Given the description of an element on the screen output the (x, y) to click on. 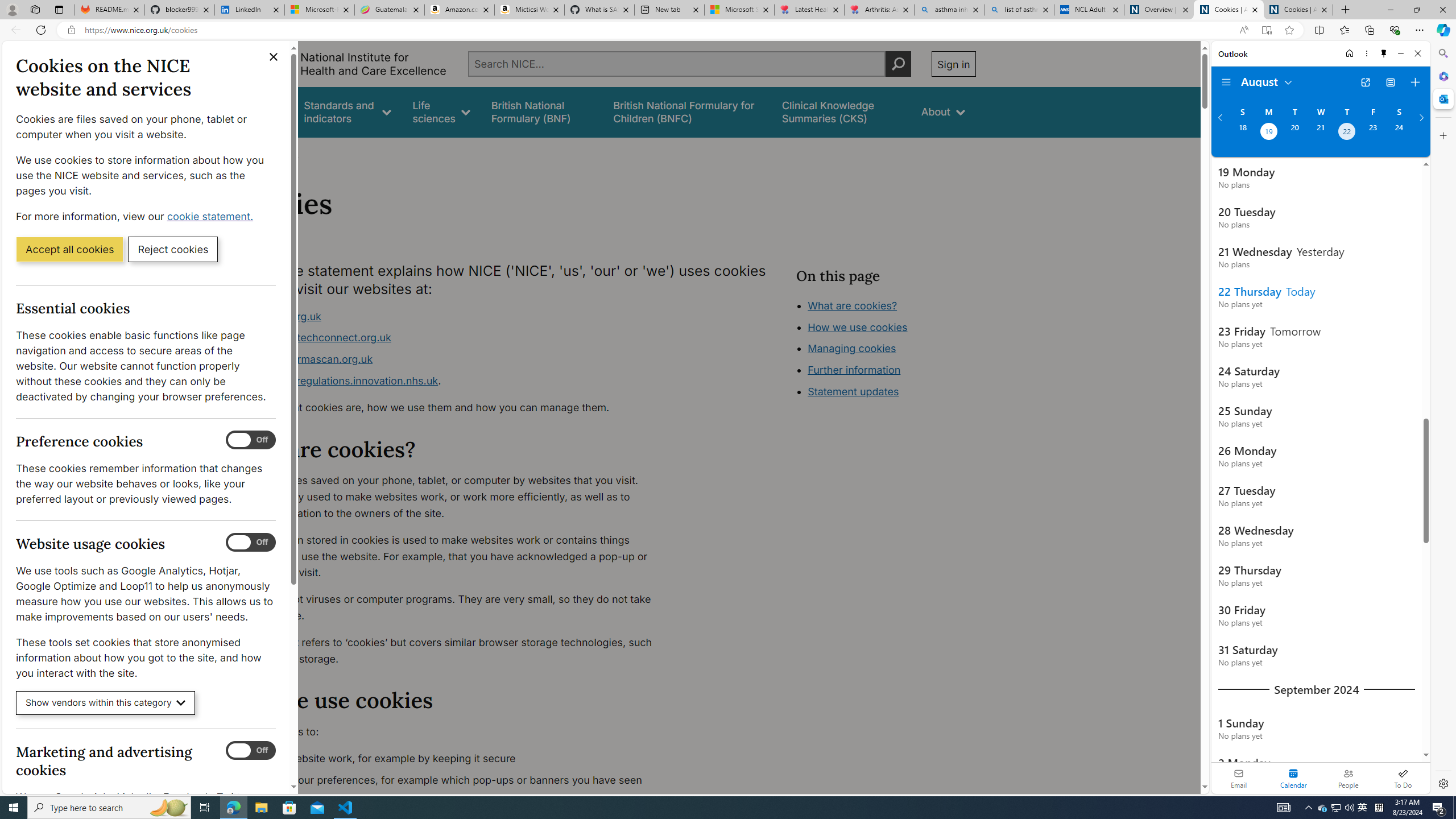
LinkedIn (249, 9)
Close Outlook pane (1442, 98)
make our website work, for example by keeping it secure (452, 759)
Enter Immersive Reader (F9) (1266, 29)
Arthritis: Ask Health Professionals (879, 9)
